Given the description of an element on the screen output the (x, y) to click on. 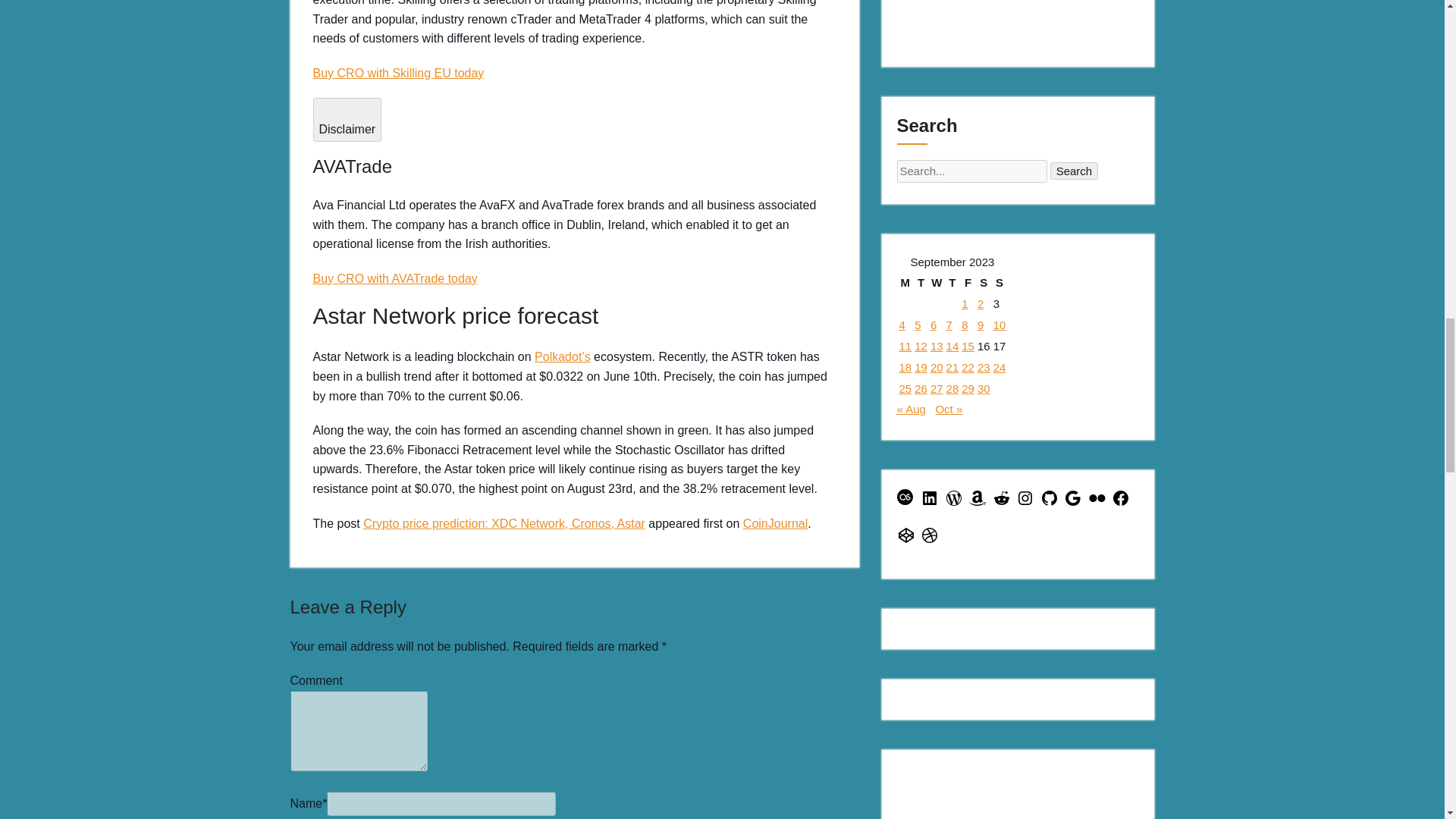
Monday (905, 282)
Friday (967, 282)
Tuesday (921, 282)
Buy CRO with Skilling EU today (398, 72)
Saturday (983, 282)
Buy CRO with AVATrade today (395, 278)
Thursday (951, 282)
Sunday (999, 282)
Buy CRO with Skilling EU today (398, 72)
Wednesday (936, 282)
Buy CRO with AVATrade today (395, 278)
Search (1074, 170)
Disclaimer (347, 118)
